Given the description of an element on the screen output the (x, y) to click on. 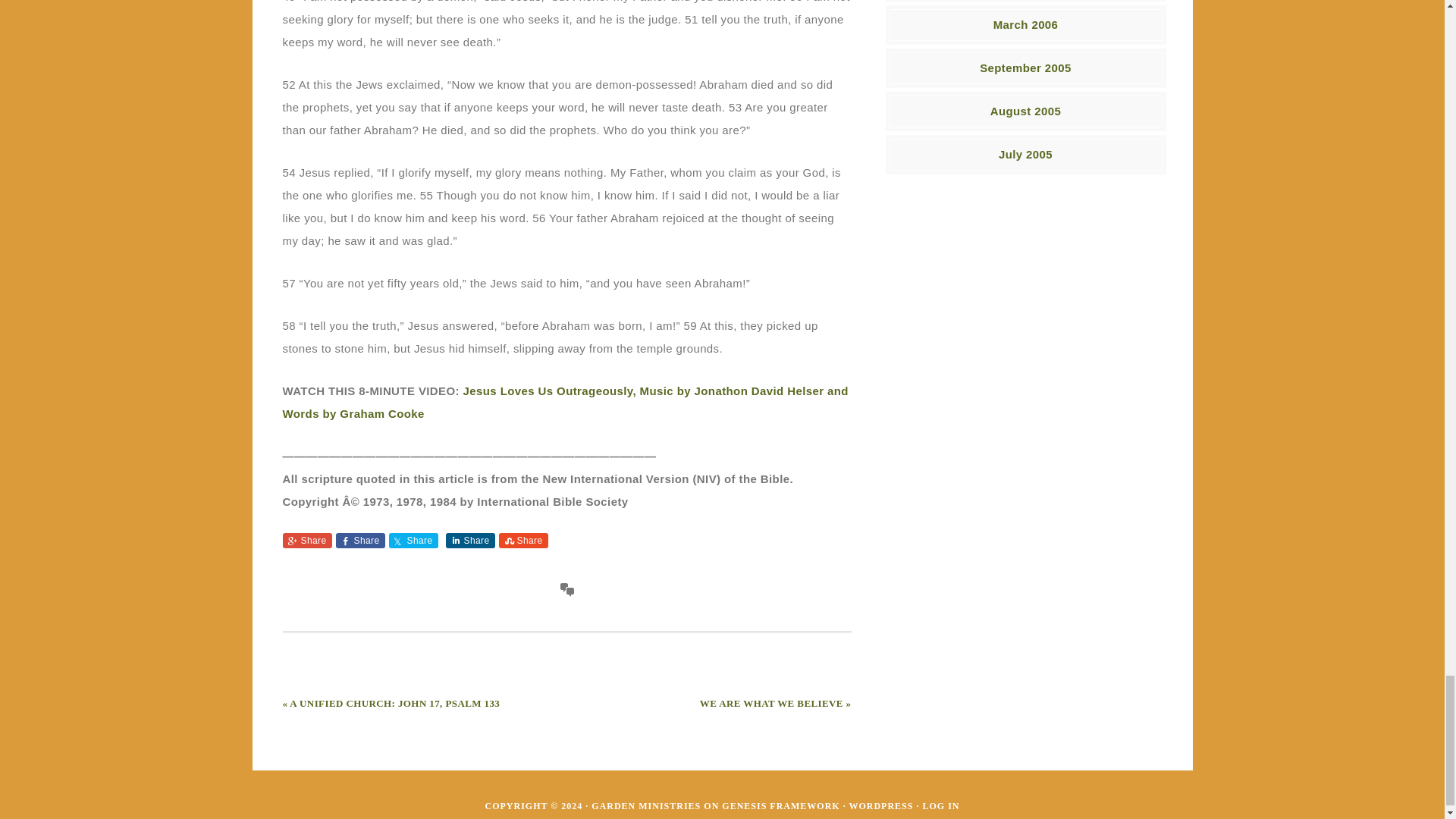
Share (470, 539)
Share (523, 539)
Share (413, 539)
Share (306, 539)
Jesus Loves Us Outrageously (564, 401)
Share (359, 539)
